Given the description of an element on the screen output the (x, y) to click on. 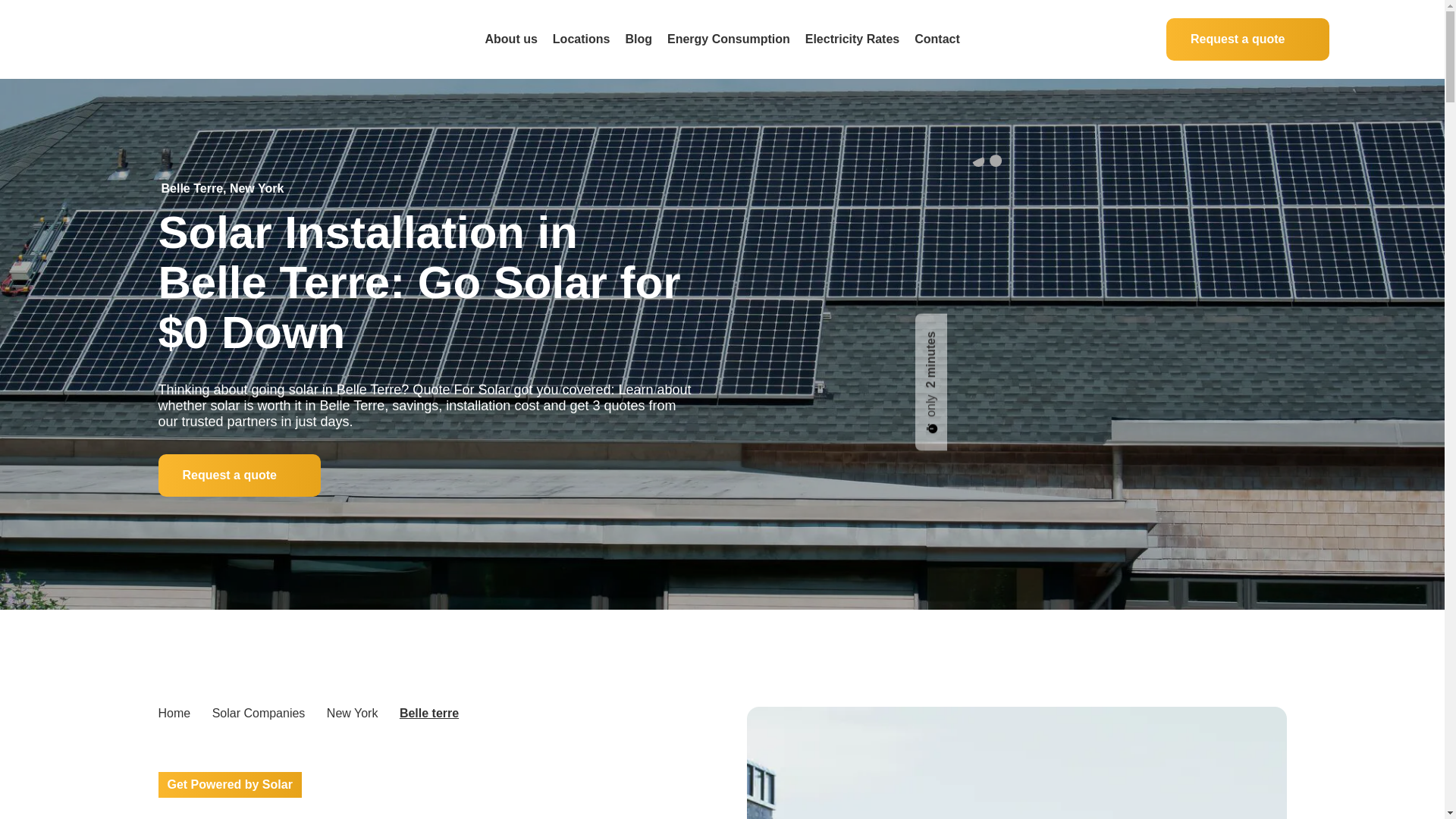
Energy Consumption (728, 39)
Electricity Rates (852, 39)
Home (173, 712)
Contact (937, 39)
Solar Companies (258, 712)
Belle terre (428, 712)
About us (511, 39)
New York (352, 712)
Blog (638, 39)
Locations (581, 39)
